Given the description of an element on the screen output the (x, y) to click on. 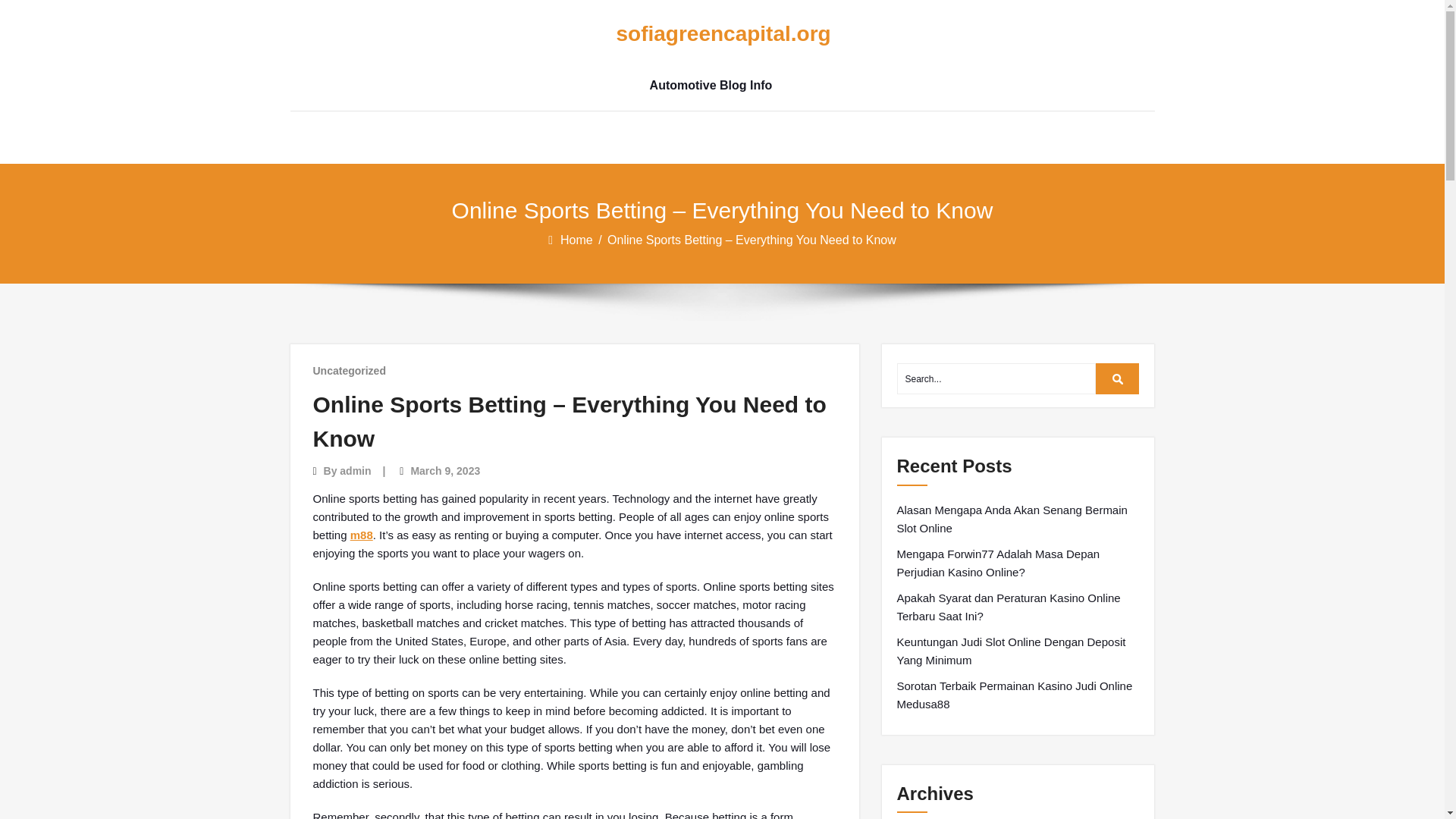
Keuntungan Judi Slot Online Dengan Deposit Yang Minimum (1017, 651)
Alasan Mengapa Anda Akan Senang Bermain Slot Online (1017, 519)
sofiagreencapital.org (710, 34)
Search (1118, 378)
March 9, 2023 (445, 470)
admin (355, 470)
Apakah Syarat dan Peraturan Kasino Online Terbaru Saat Ini? (1017, 606)
Mengapa Forwin77 Adalah Masa Depan Perjudian Kasino Online? (1017, 563)
Uncategorized (349, 370)
Sorotan Terbaik Permainan Kasino Judi Online Medusa88 (1017, 695)
